Given the description of an element on the screen output the (x, y) to click on. 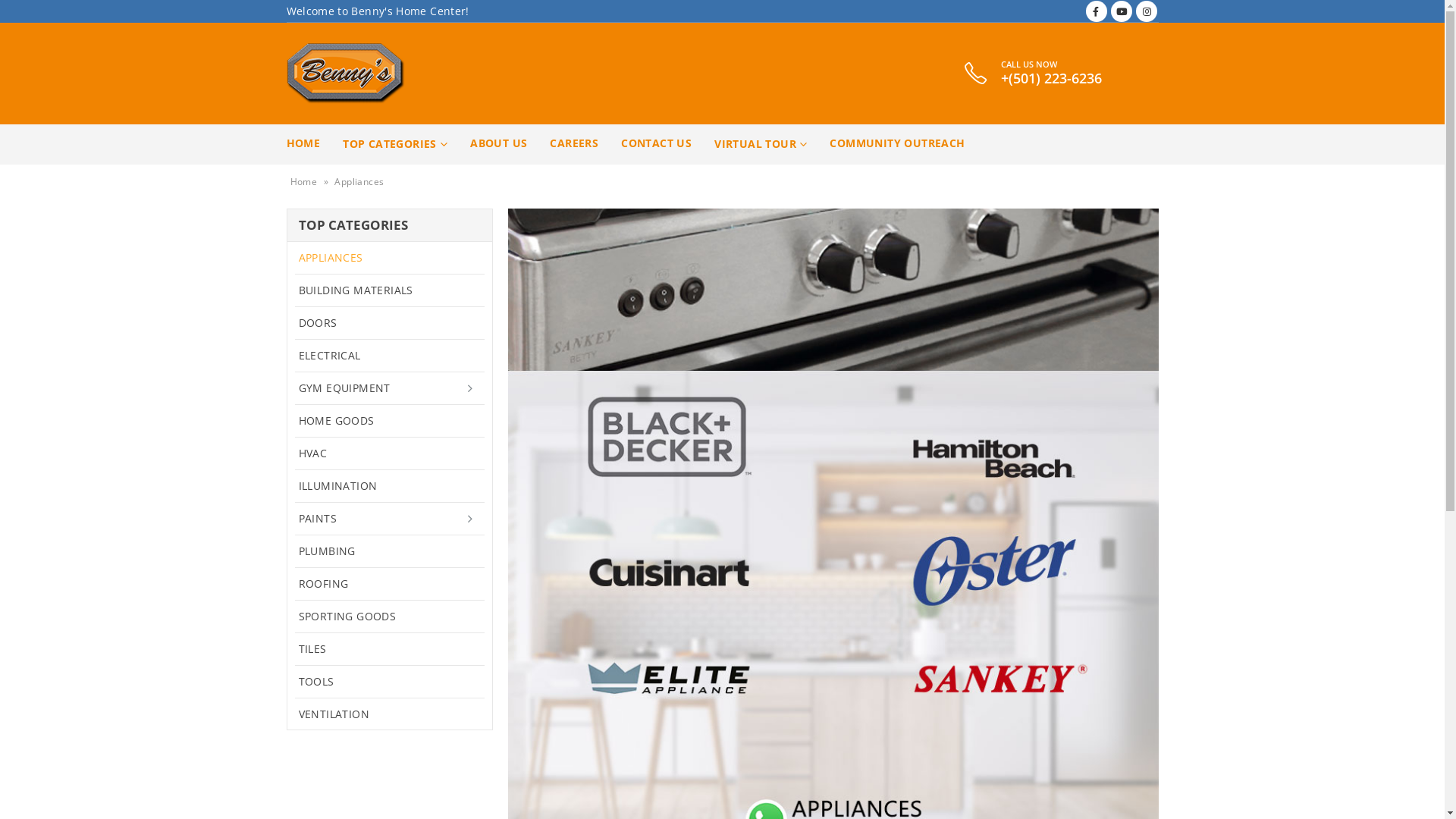
BUILDING MATERIALS Element type: text (389, 289)
VENTILATION Element type: text (389, 713)
HVAC Element type: text (389, 452)
Youtube Element type: hover (1121, 10)
PLUMBING Element type: text (389, 550)
TOOLS Element type: text (389, 680)
ABOUT US Element type: text (498, 143)
VIRTUAL TOUR Element type: text (760, 144)
PAINTS Element type: text (389, 517)
CONTACT US Element type: text (656, 143)
SPORTING GOODS Element type: text (389, 615)
Instagram Element type: hover (1146, 10)
APPLIANCES Element type: text (389, 257)
GYM EQUIPMENT Element type: text (389, 387)
ILLUMINATION Element type: text (389, 485)
Home Element type: text (302, 181)
ELECTRICAL Element type: text (389, 354)
CAREERS Element type: text (573, 143)
COMMUNITY OUTREACH Element type: text (896, 143)
ROOFING Element type: text (389, 583)
HOME Element type: text (303, 143)
Facebook Element type: hover (1096, 10)
DOORS Element type: text (389, 322)
TOP CATEGORIES Element type: text (394, 144)
HOME GOODS Element type: text (389, 420)
TILES Element type: text (389, 648)
Benny's Home Center - Quality & Savings Element type: hover (345, 73)
